Given the description of an element on the screen output the (x, y) to click on. 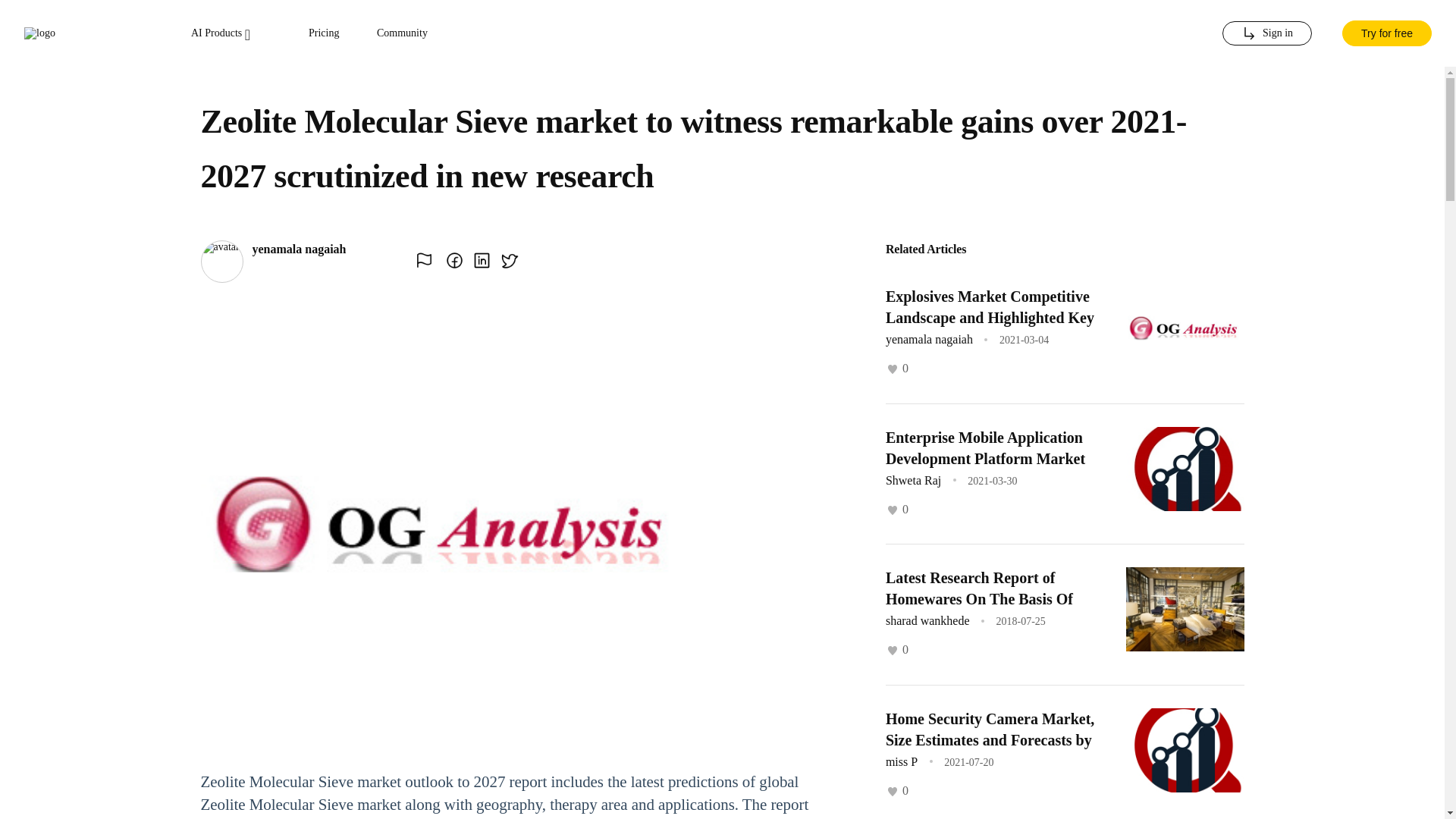
Community (402, 33)
Try for free (1386, 32)
Pricing (323, 33)
 Sign in (1267, 33)
